Given the description of an element on the screen output the (x, y) to click on. 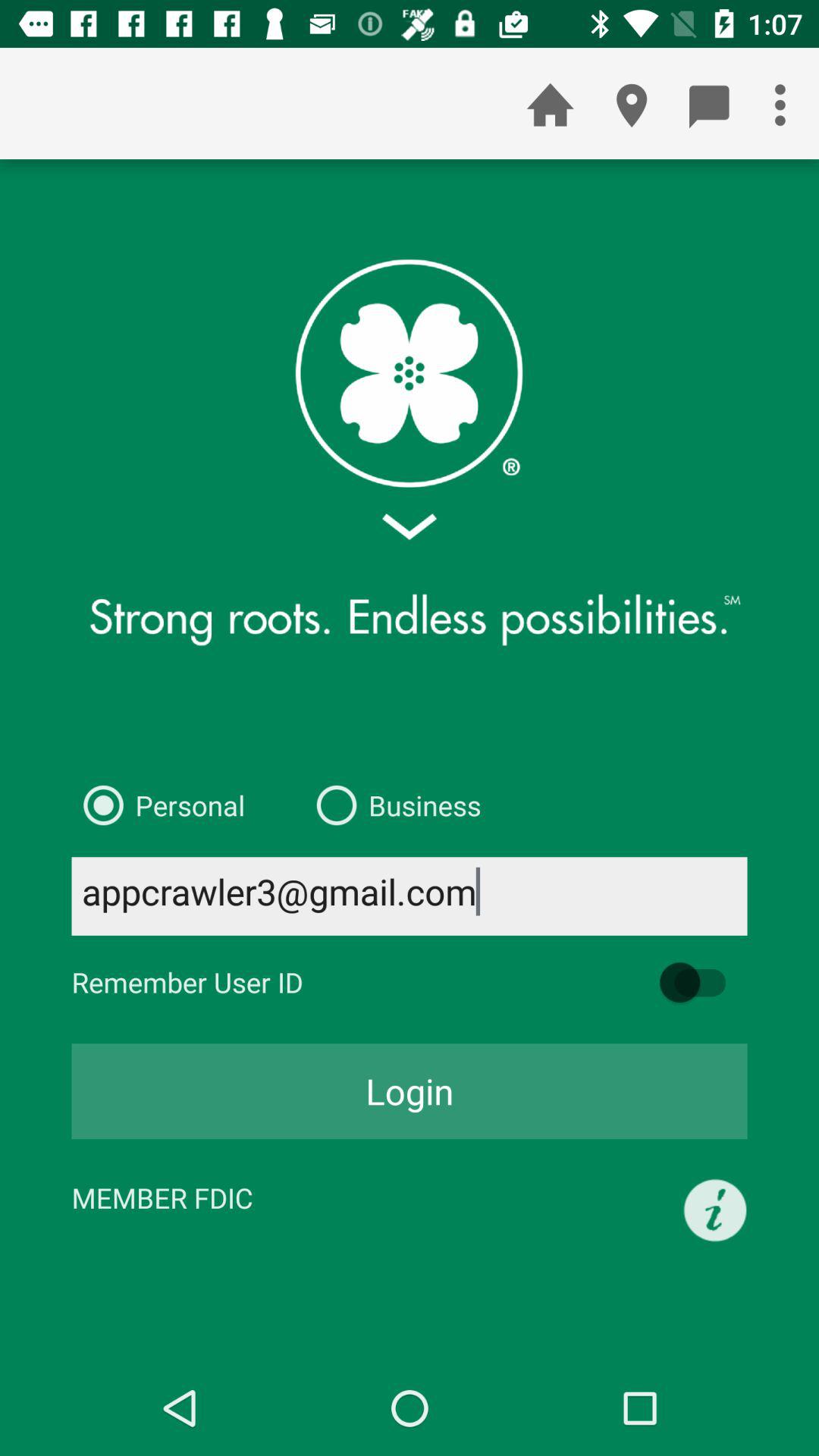
toggle remember user id (699, 982)
